Given the description of an element on the screen output the (x, y) to click on. 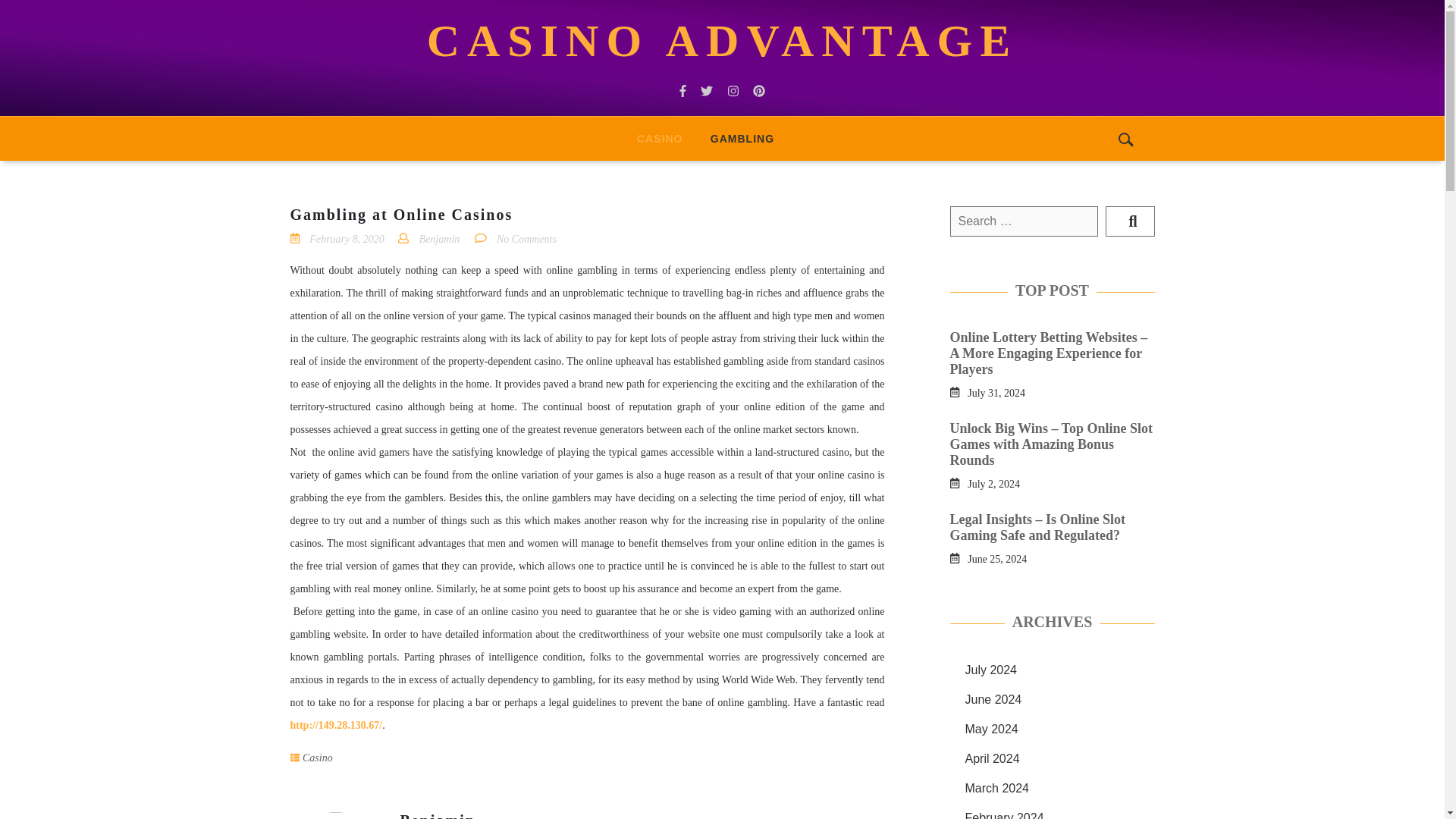
No Comments (526, 238)
Benjamin (439, 238)
Posts by Benjamin (438, 815)
February 2024 (1003, 815)
July 2024 (989, 669)
June 25, 2024 (997, 558)
July 31, 2024 (996, 391)
Search (1129, 221)
March 2024 (996, 788)
May 2024 (990, 728)
Search (1129, 221)
July 2, 2024 (994, 482)
CASINO (659, 138)
Search (1129, 221)
GAMBLING (742, 138)
